Given the description of an element on the screen output the (x, y) to click on. 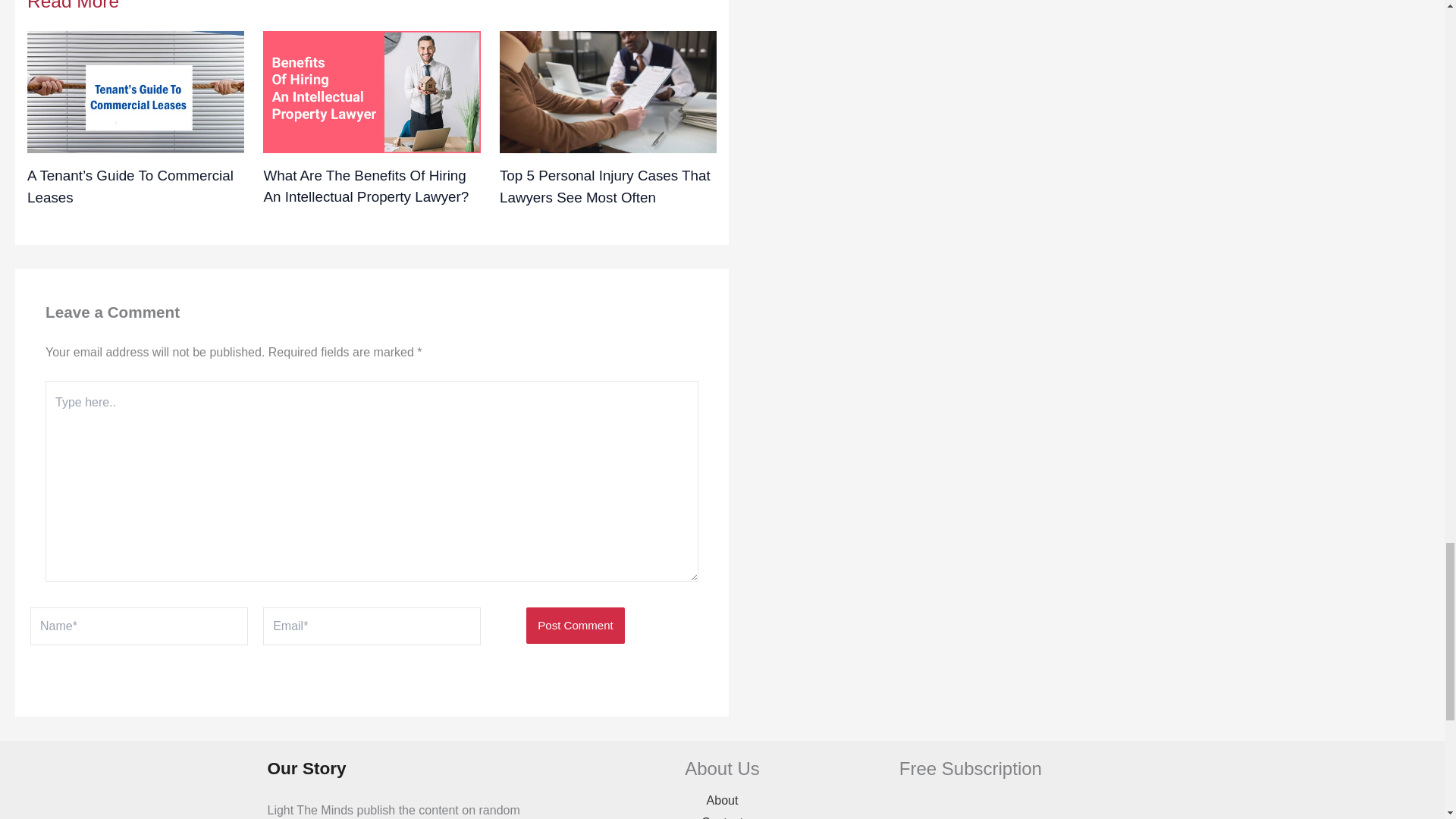
Post Comment (574, 625)
